Given the description of an element on the screen output the (x, y) to click on. 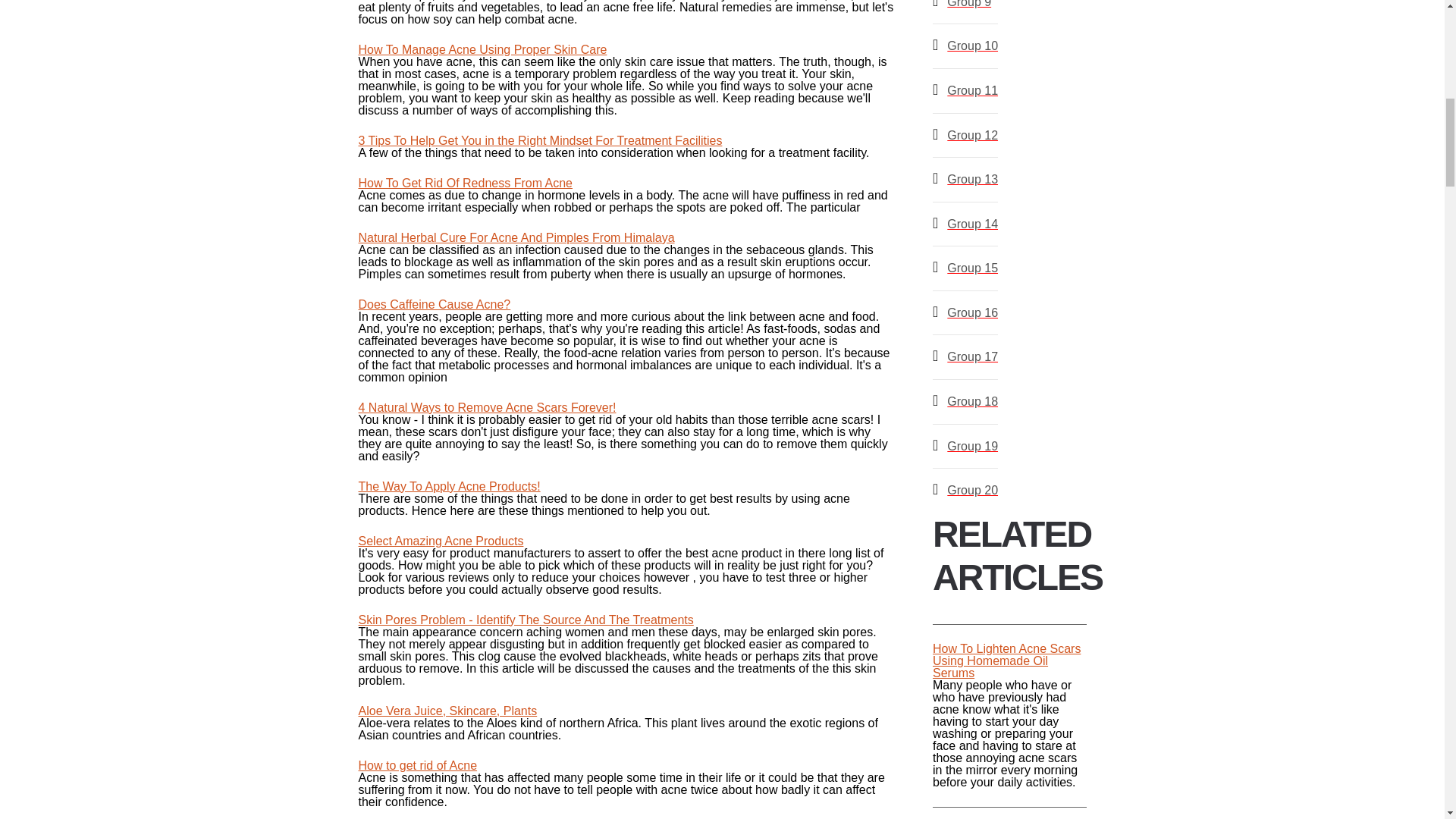
4 Natural Ways to Remove Acne Scars Forever! (486, 407)
Aloe Vera Juice, Skincare, Plants (447, 710)
How to get rid of Acne (417, 765)
The Way To Apply Acne Products! (449, 486)
Skin Pores Problem - Identify The Source And The Treatments (525, 619)
Natural Herbal Cure For Acne And Pimples From Himalaya (516, 237)
How To Get Rid Of Redness From Acne (465, 182)
Does Caffeine Cause Acne? (434, 304)
How To Manage Acne Using Proper Skin Care (482, 49)
Select Amazing Acne Products (440, 540)
